Given the description of an element on the screen output the (x, y) to click on. 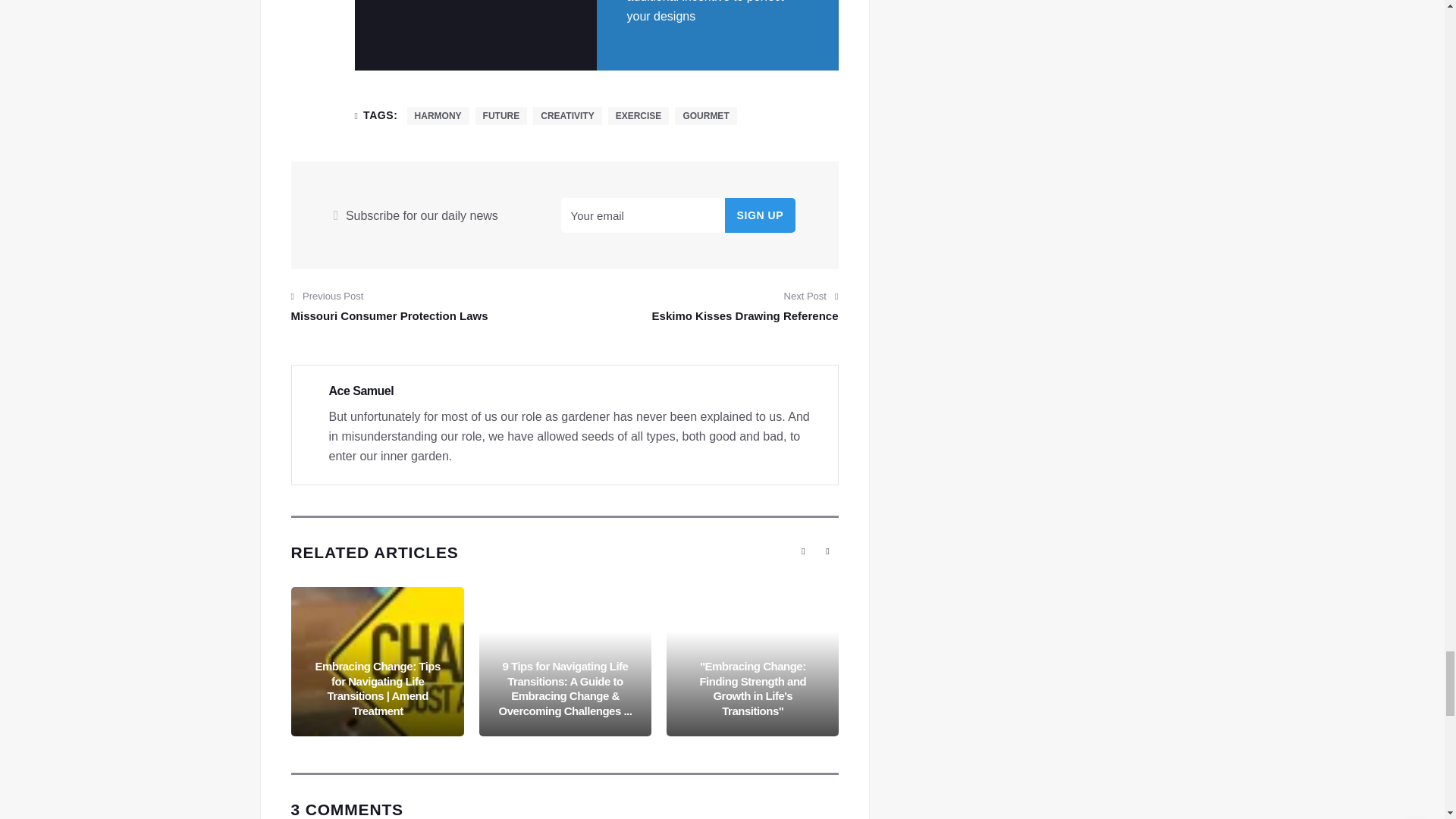
Sign Up (760, 215)
